Given the description of an element on the screen output the (x, y) to click on. 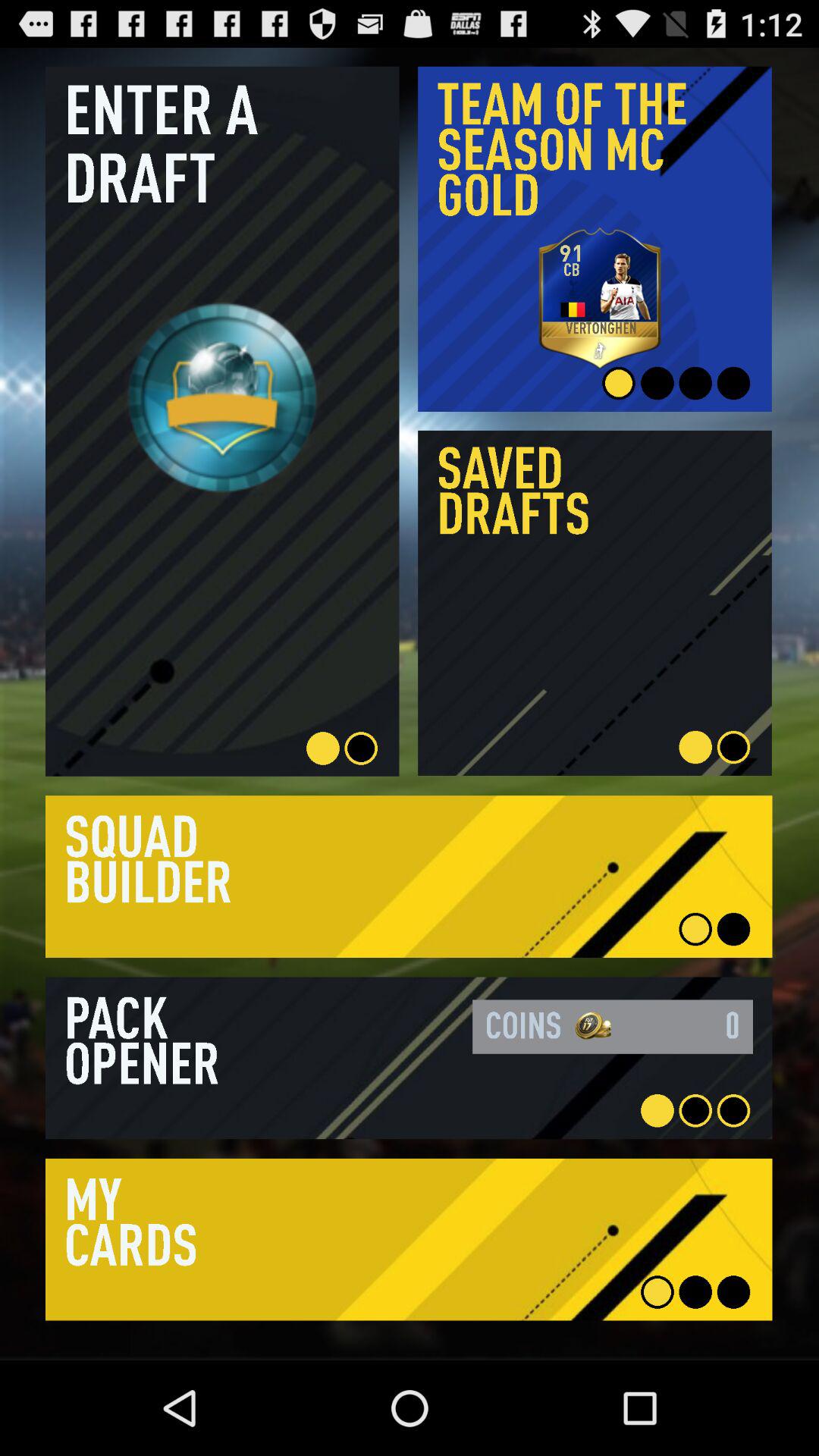
squad builder (408, 876)
